Given the description of an element on the screen output the (x, y) to click on. 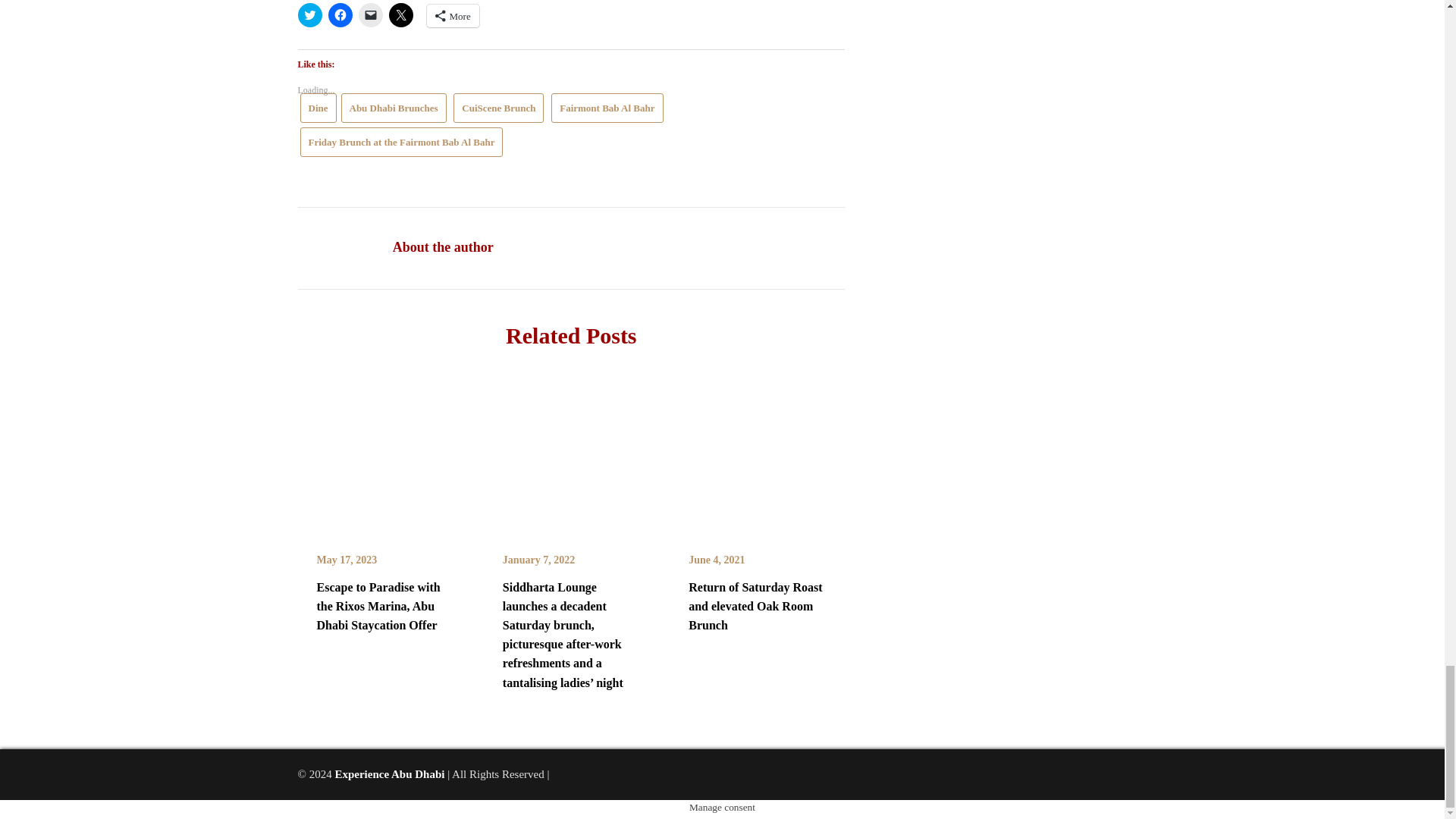
More (452, 15)
Click to share on Facebook (339, 15)
Click to email a link to a friend (369, 15)
Click to share on X (400, 15)
Click to share on Twitter (309, 15)
Return of Saturday Roast and elevated Oak Room Brunch (756, 449)
